Given the description of an element on the screen output the (x, y) to click on. 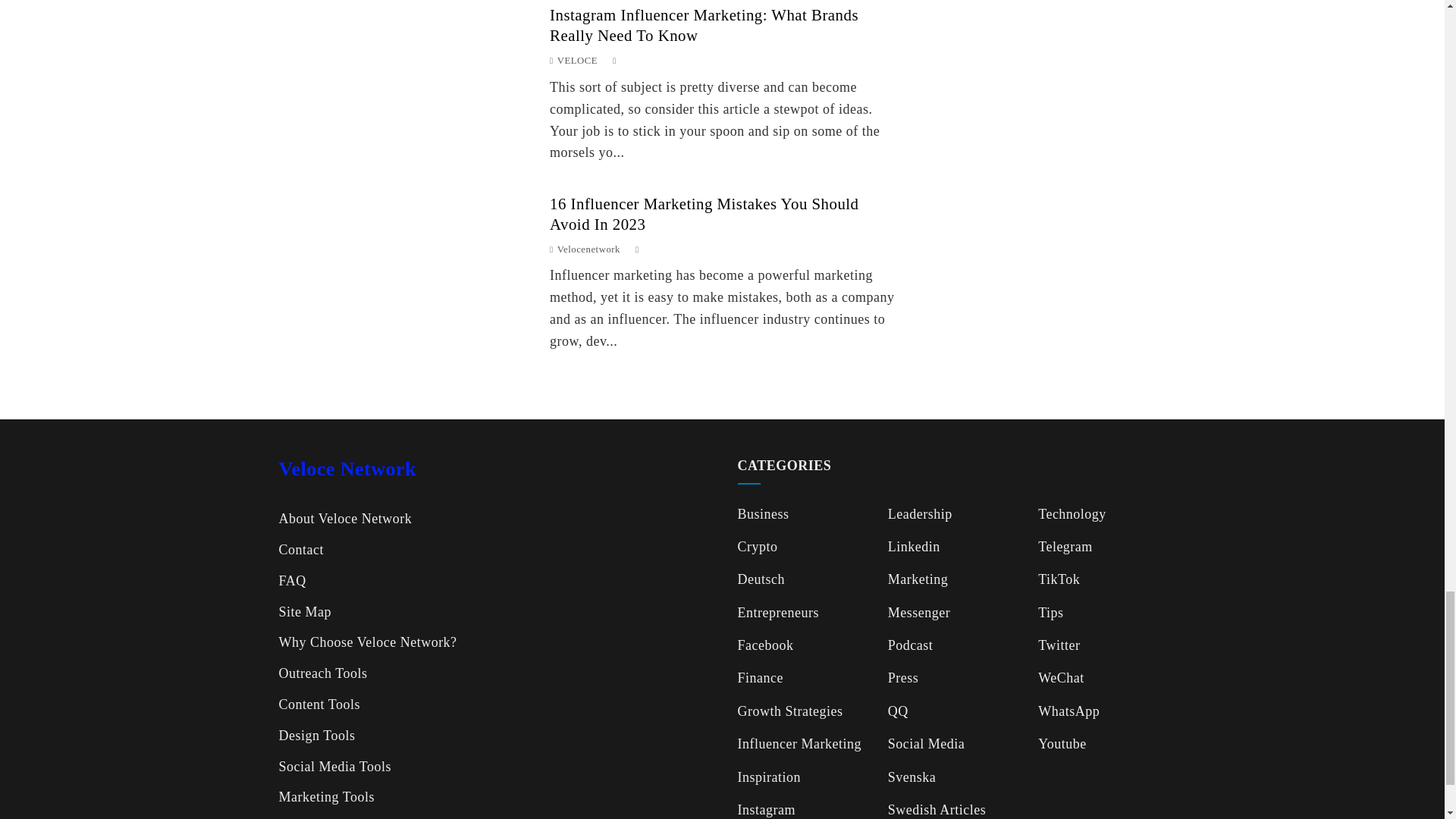
16 Influencer Marketing Mistakes You Should Avoid in 2023 (704, 213)
